Given the description of an element on the screen output the (x, y) to click on. 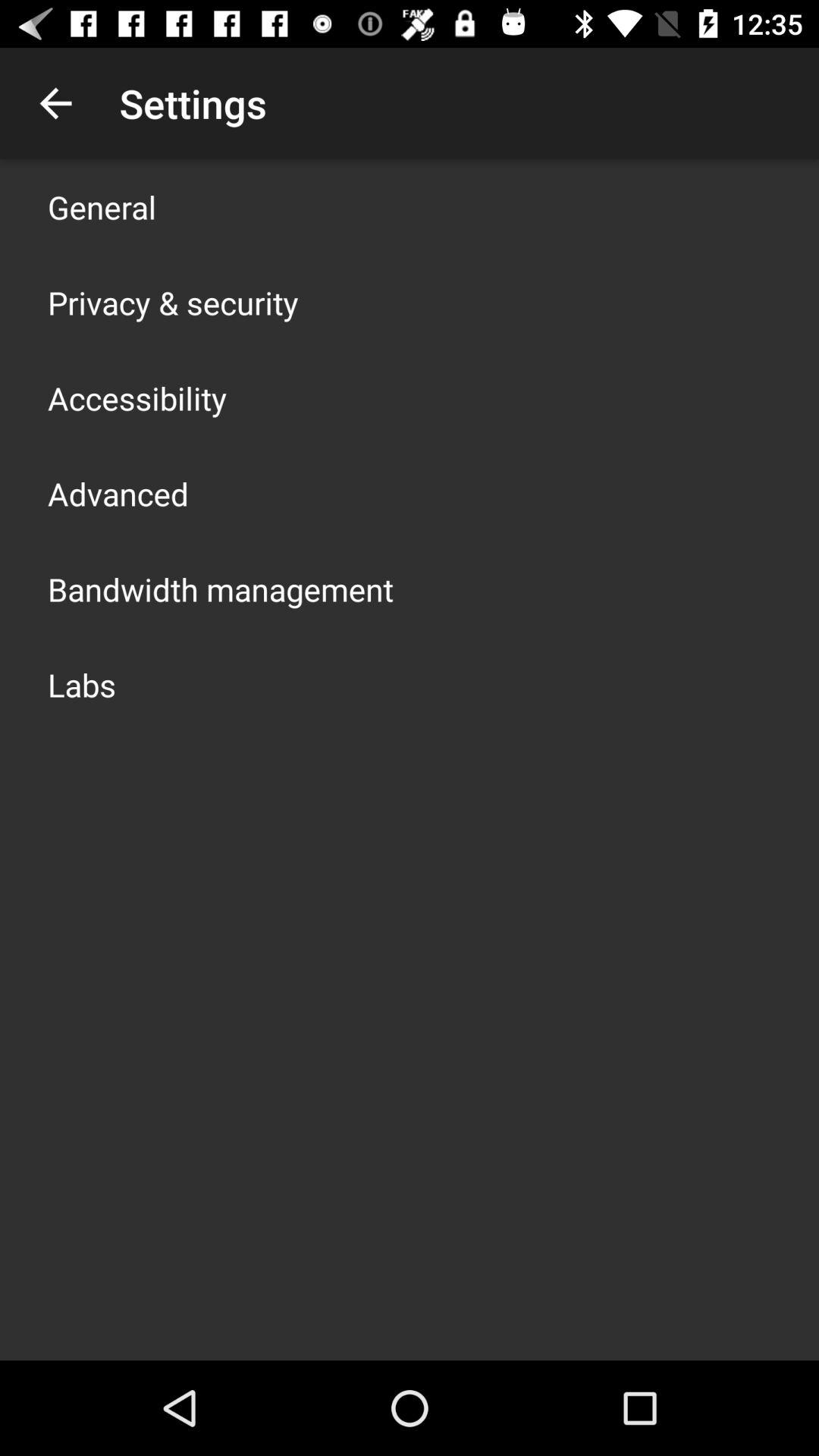
scroll until accessibility app (136, 397)
